Given the description of an element on the screen output the (x, y) to click on. 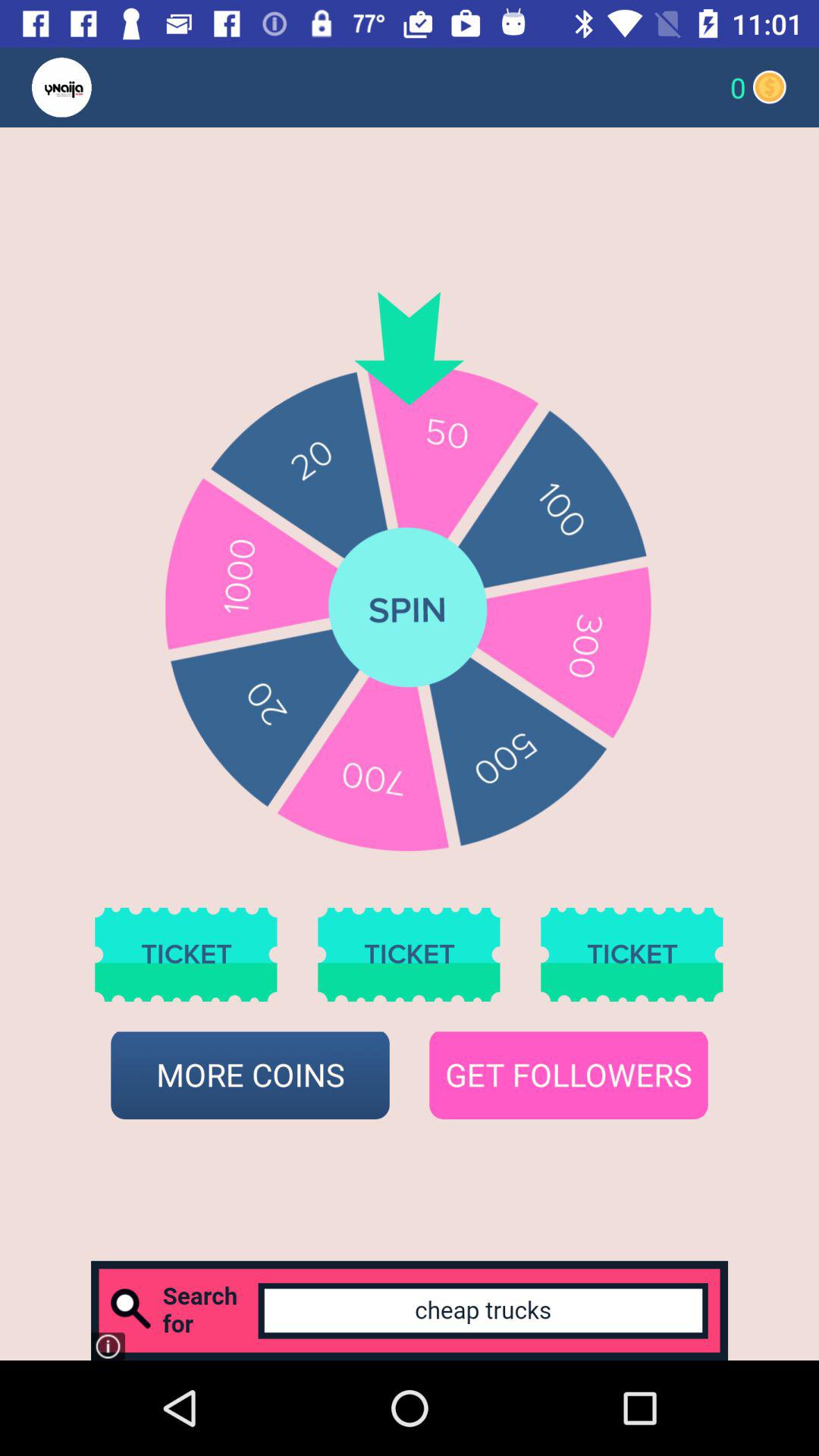
click get followers (568, 1075)
